Given the description of an element on the screen output the (x, y) to click on. 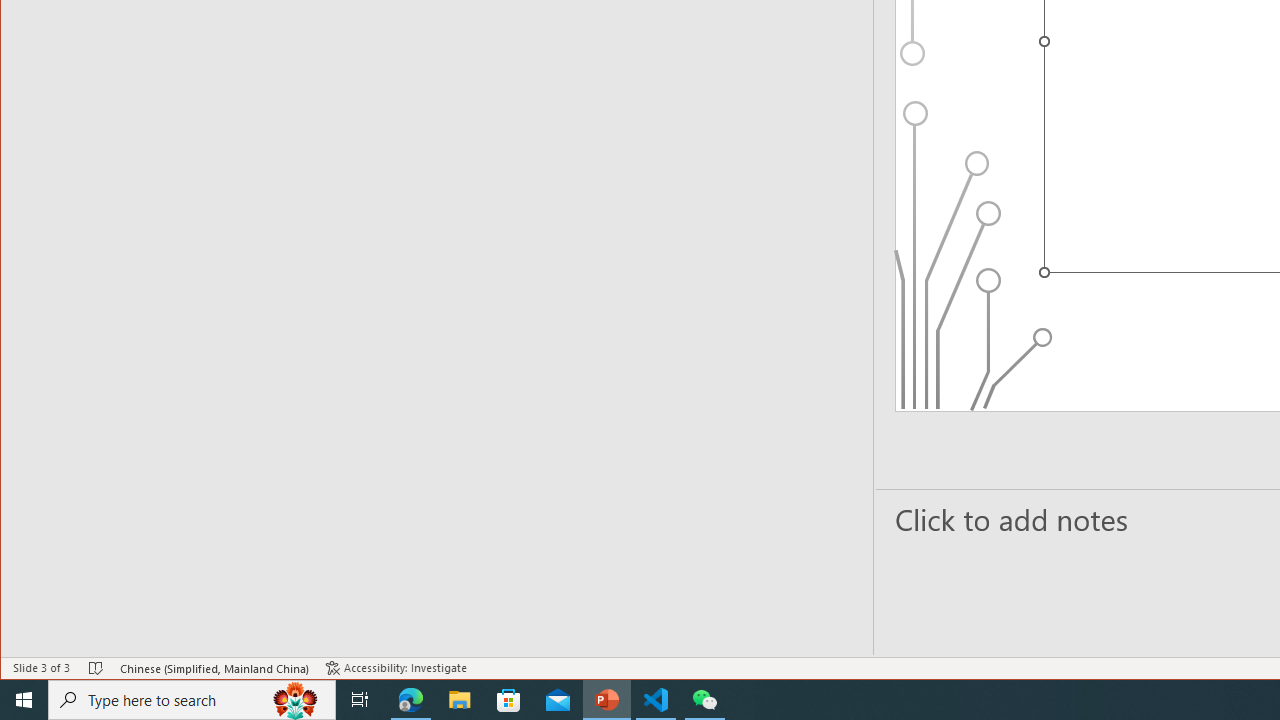
WeChat - 1 running window (704, 699)
